Given the description of an element on the screen output the (x, y) to click on. 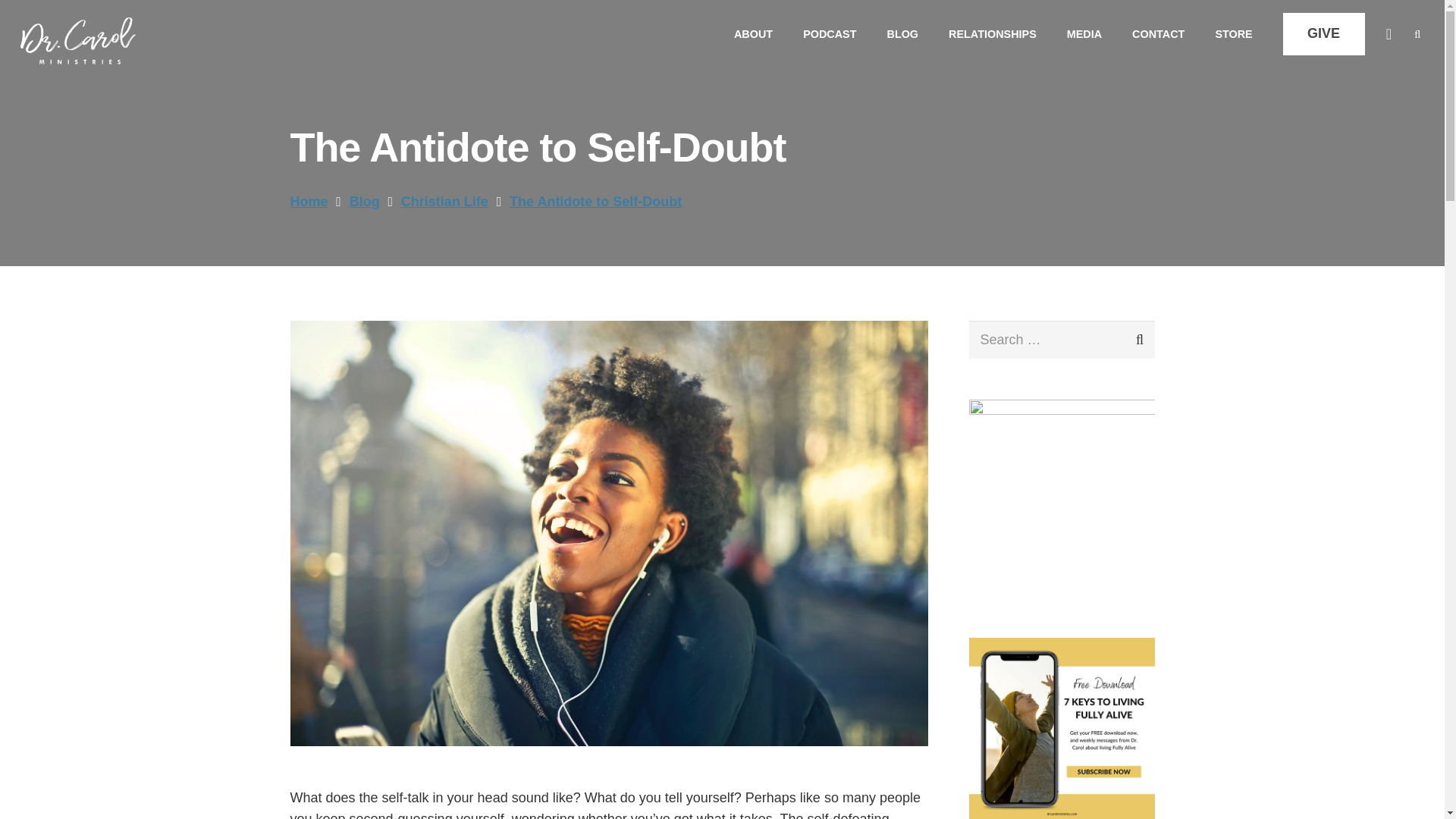
The Antidote to Self-Doubt (595, 201)
PODCAST (828, 33)
BLOG (901, 33)
Home (308, 201)
MEDIA (1083, 33)
Search (1128, 339)
Blog (364, 201)
RELATIONSHIPS (992, 33)
GIVE (1323, 34)
STORE (1232, 33)
Christian Life (444, 201)
CONTACT (1157, 33)
ABOUT (753, 33)
